Given the description of an element on the screen output the (x, y) to click on. 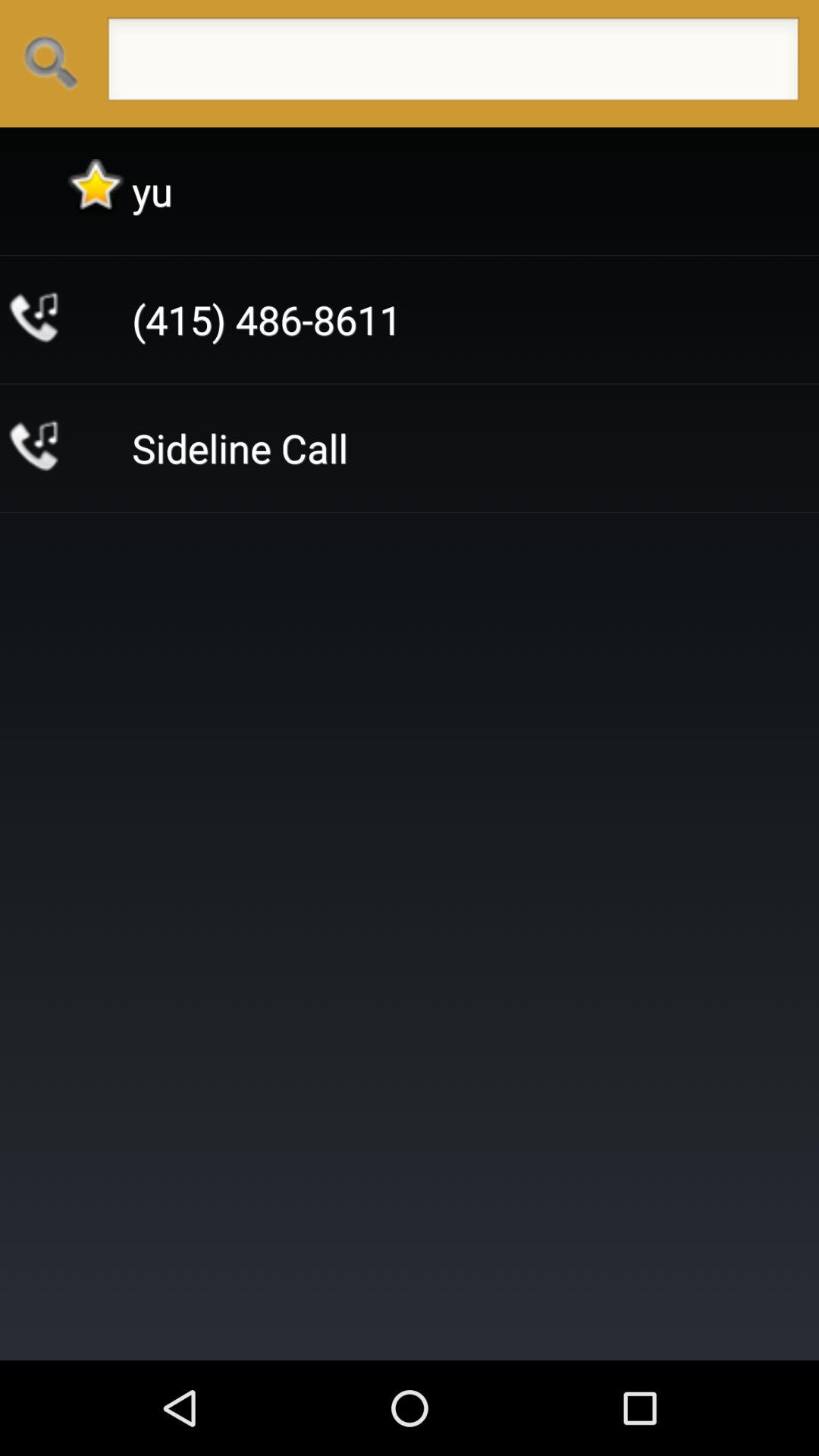
looking for (453, 63)
